Given the description of an element on the screen output the (x, y) to click on. 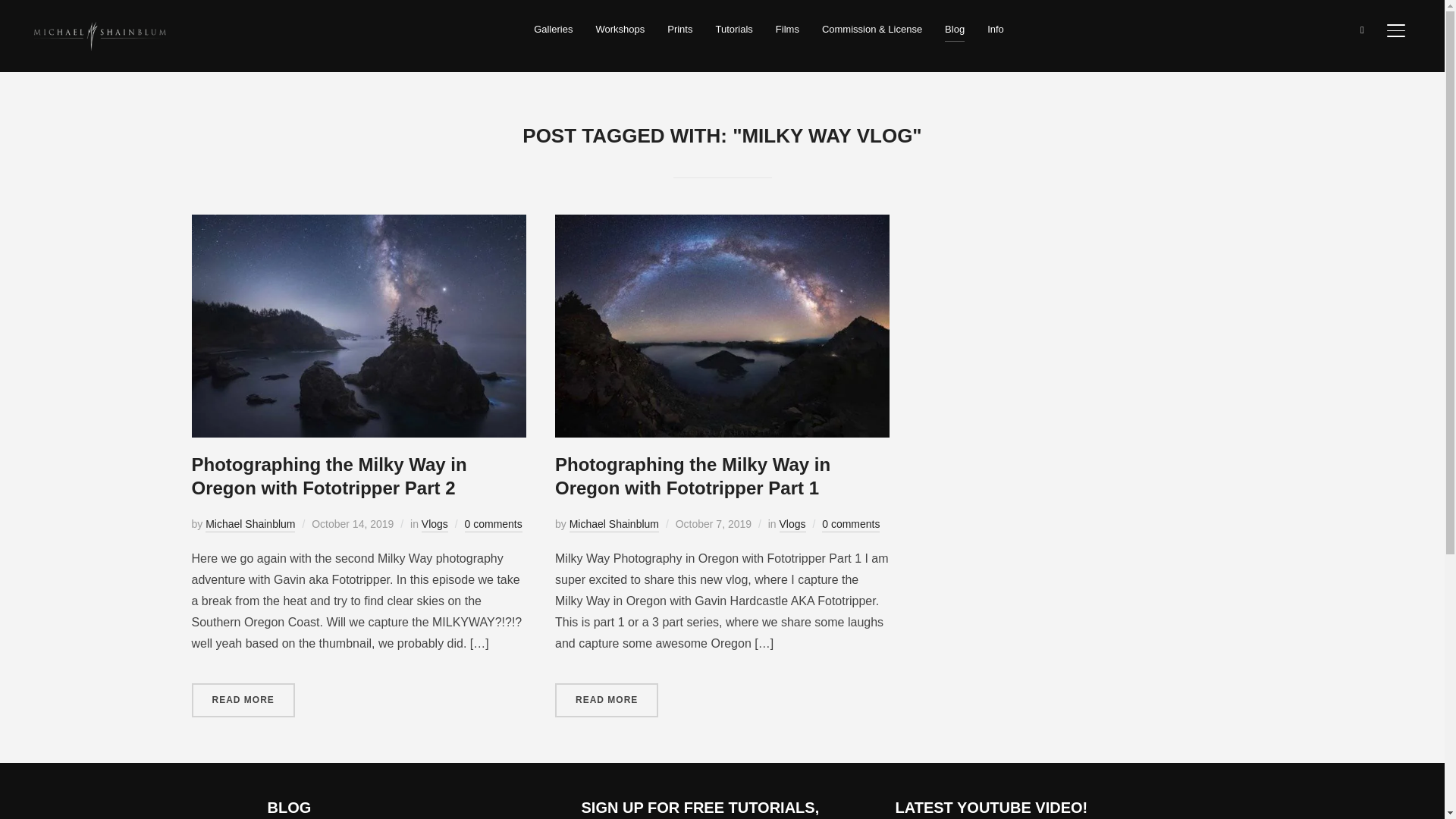
Posts by Michael Shainblum (250, 524)
Posts by Michael Shainblum (614, 524)
